Given the description of an element on the screen output the (x, y) to click on. 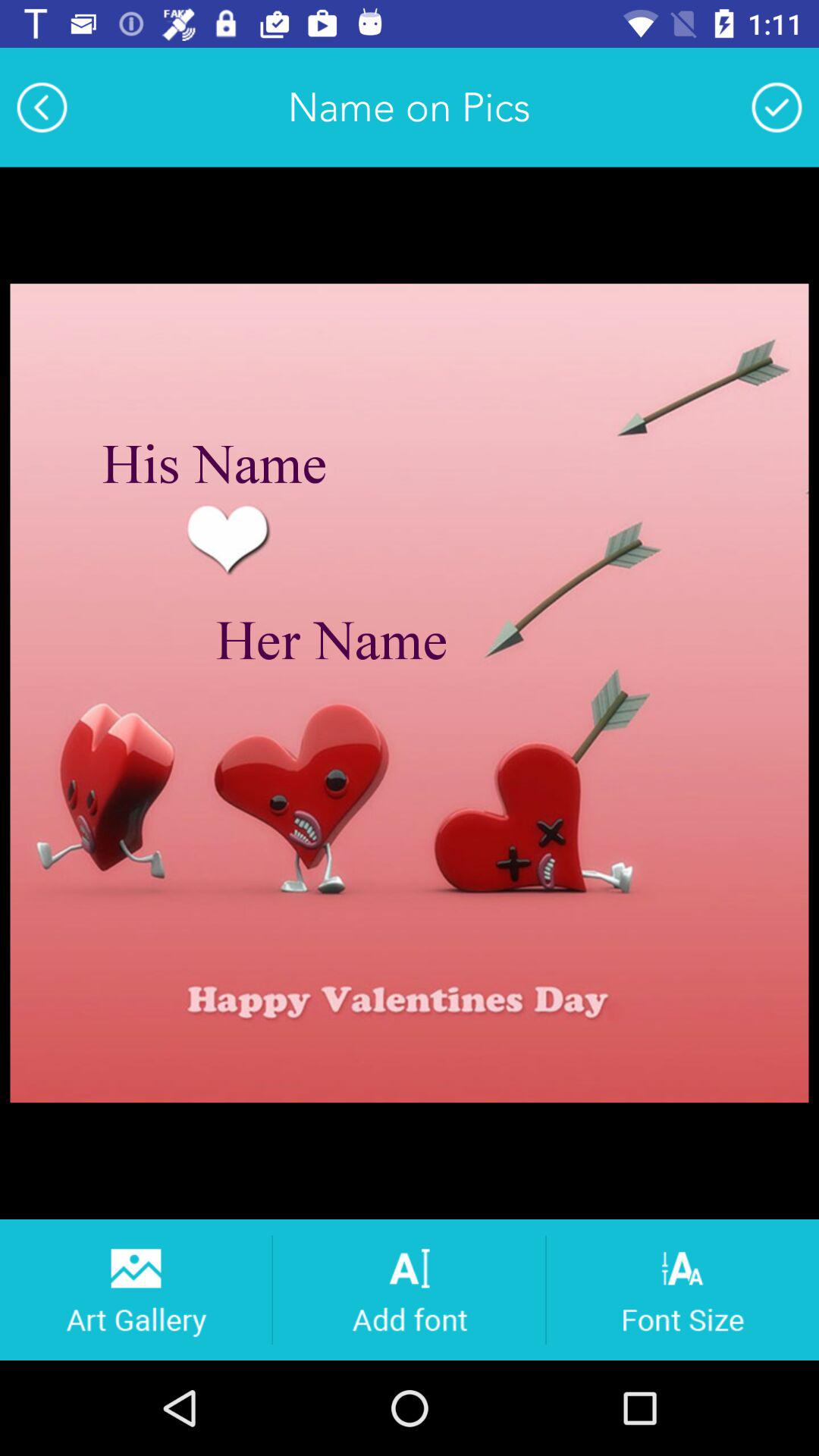
click app to the left of name on pics (41, 107)
